Given the description of an element on the screen output the (x, y) to click on. 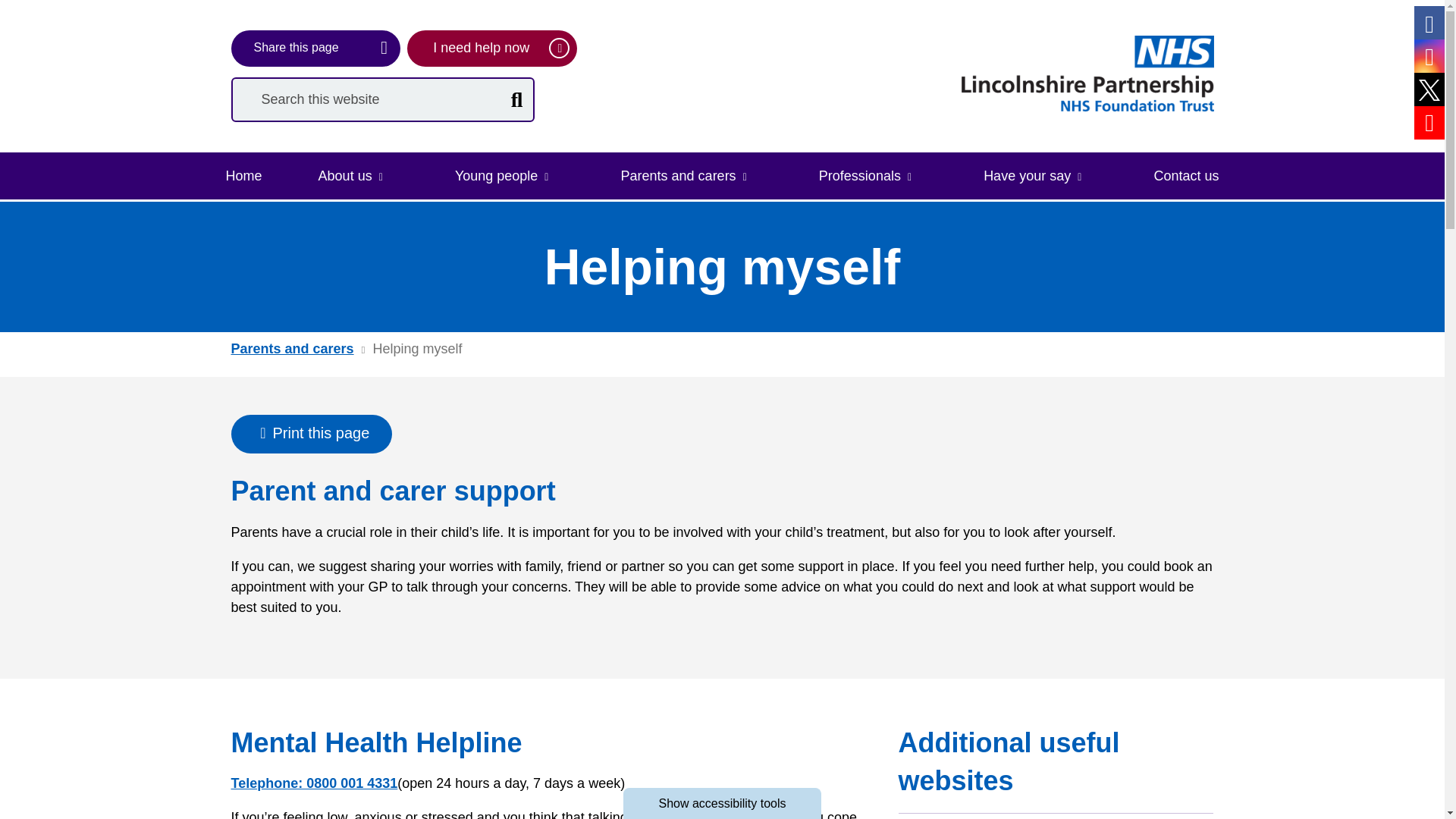
Young people (505, 175)
I need help now (491, 48)
Need urgent help? (491, 48)
About us (354, 175)
Homepage (1087, 73)
Toggle sharing options (315, 48)
Telephone 08000014331 (313, 783)
Home (242, 175)
Share this page (315, 48)
